Given the description of an element on the screen output the (x, y) to click on. 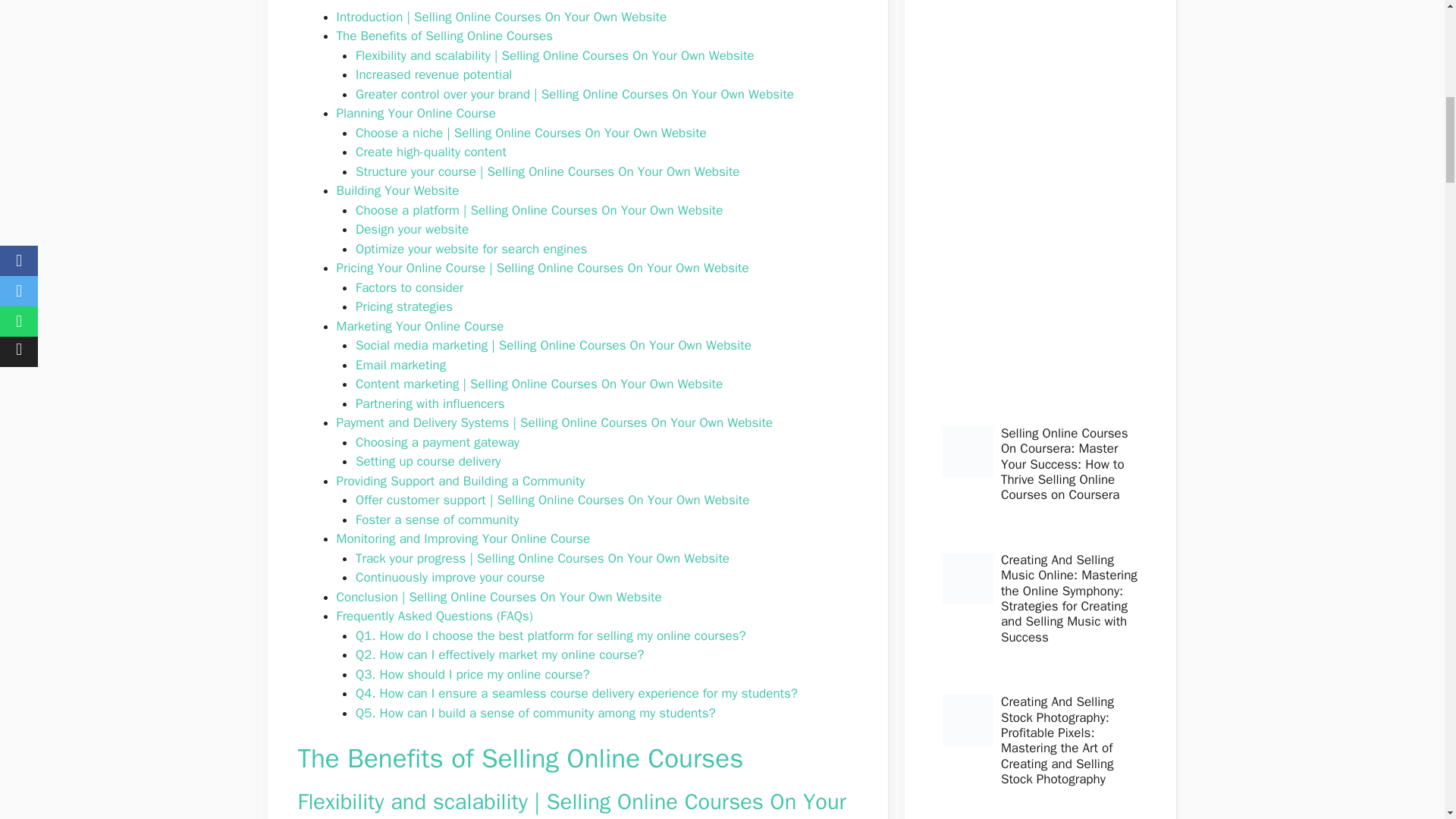
Design your website (411, 229)
Building Your Website (398, 190)
Partnering with influencers (430, 403)
Factors to consider (409, 287)
Optimize your website for search engines (470, 248)
The Benefits of Selling Online Courses (444, 35)
Increased revenue potential (433, 74)
Planning Your Online Course (416, 113)
Scroll back to top (1406, 720)
Marketing Your Online Course (419, 326)
Create high-quality content (430, 151)
Advertisement (1037, 201)
Pricing strategies (403, 306)
Email marketing (400, 365)
